Given the description of an element on the screen output the (x, y) to click on. 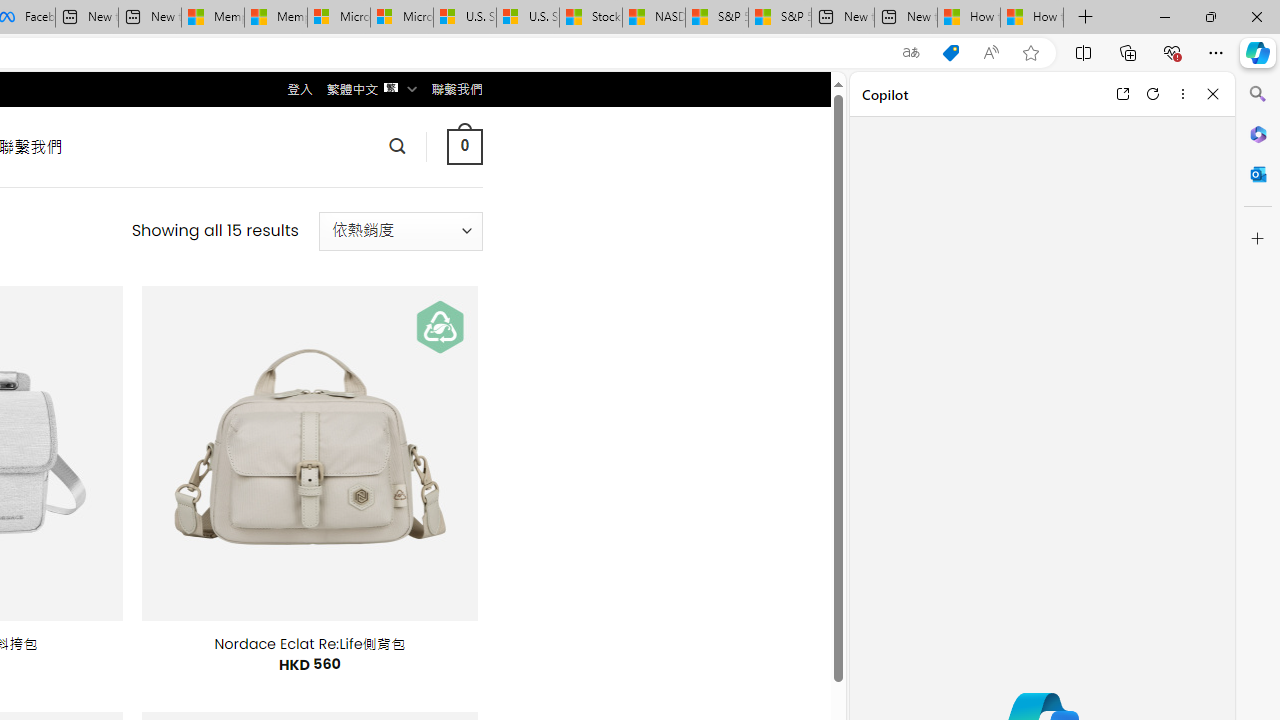
More options (1182, 93)
Customize (1258, 239)
